Given the description of an element on the screen output the (x, y) to click on. 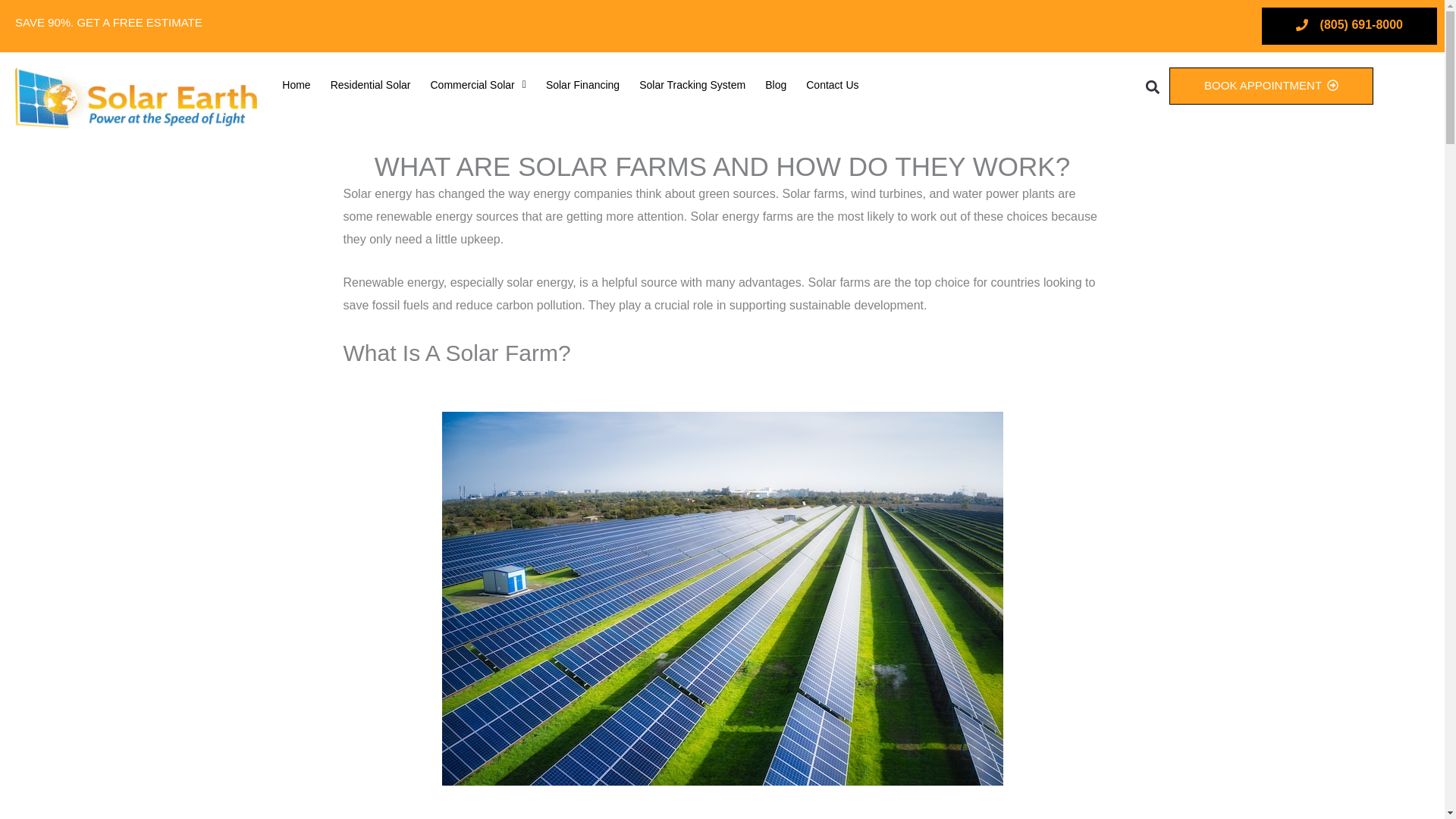
Blog (775, 84)
BOOK APPOINTMENT (1271, 85)
Solar Financing (581, 84)
Residential Solar (370, 84)
Solar Tracking System (691, 84)
Commercial Solar (477, 84)
Home (296, 84)
Contact Us (831, 84)
